Given the description of an element on the screen output the (x, y) to click on. 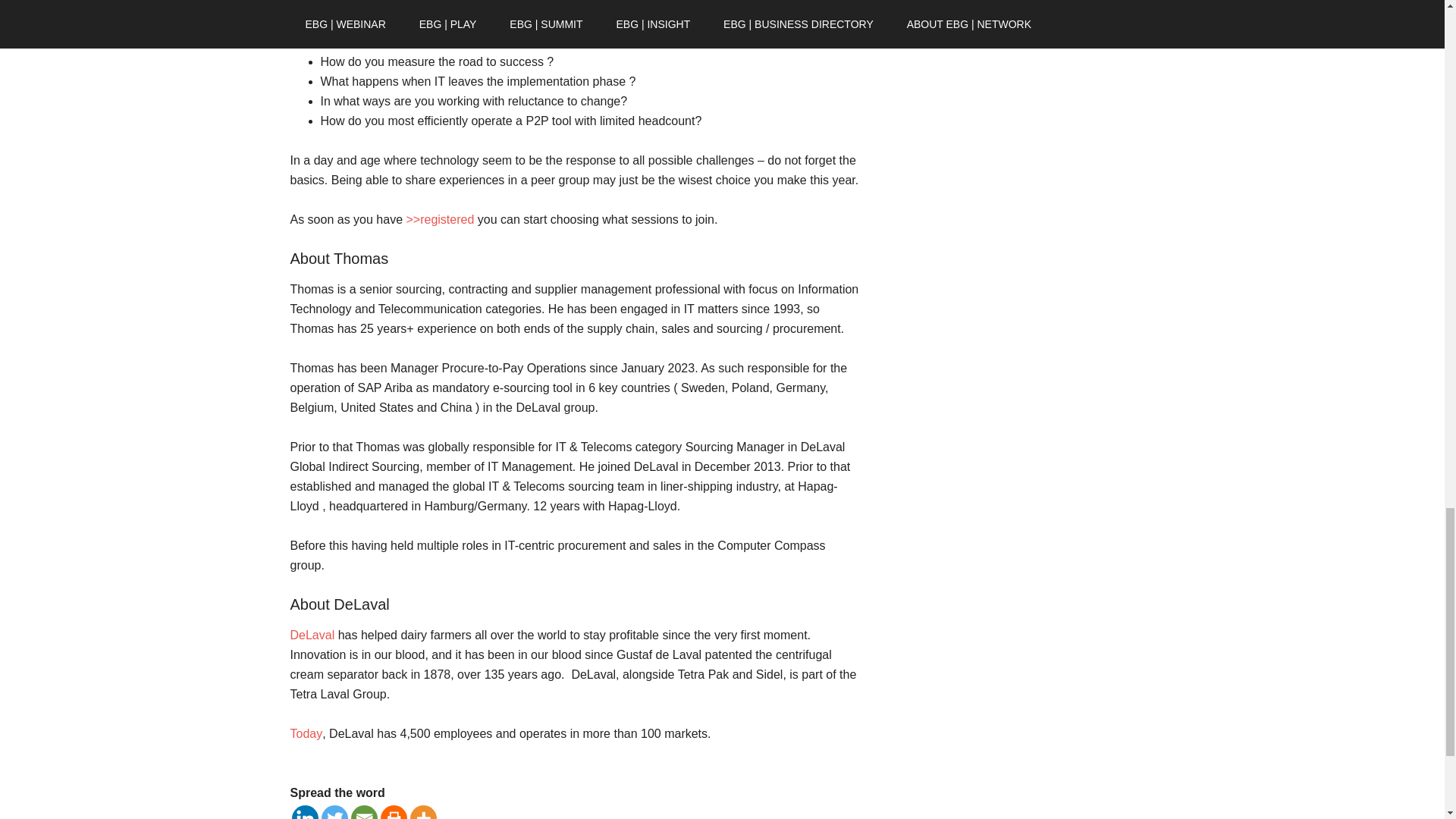
Print (393, 812)
Twitter (334, 812)
More (422, 812)
DeLaval (311, 634)
Email (363, 812)
Today (305, 733)
Linkedin (304, 812)
